Given the description of an element on the screen output the (x, y) to click on. 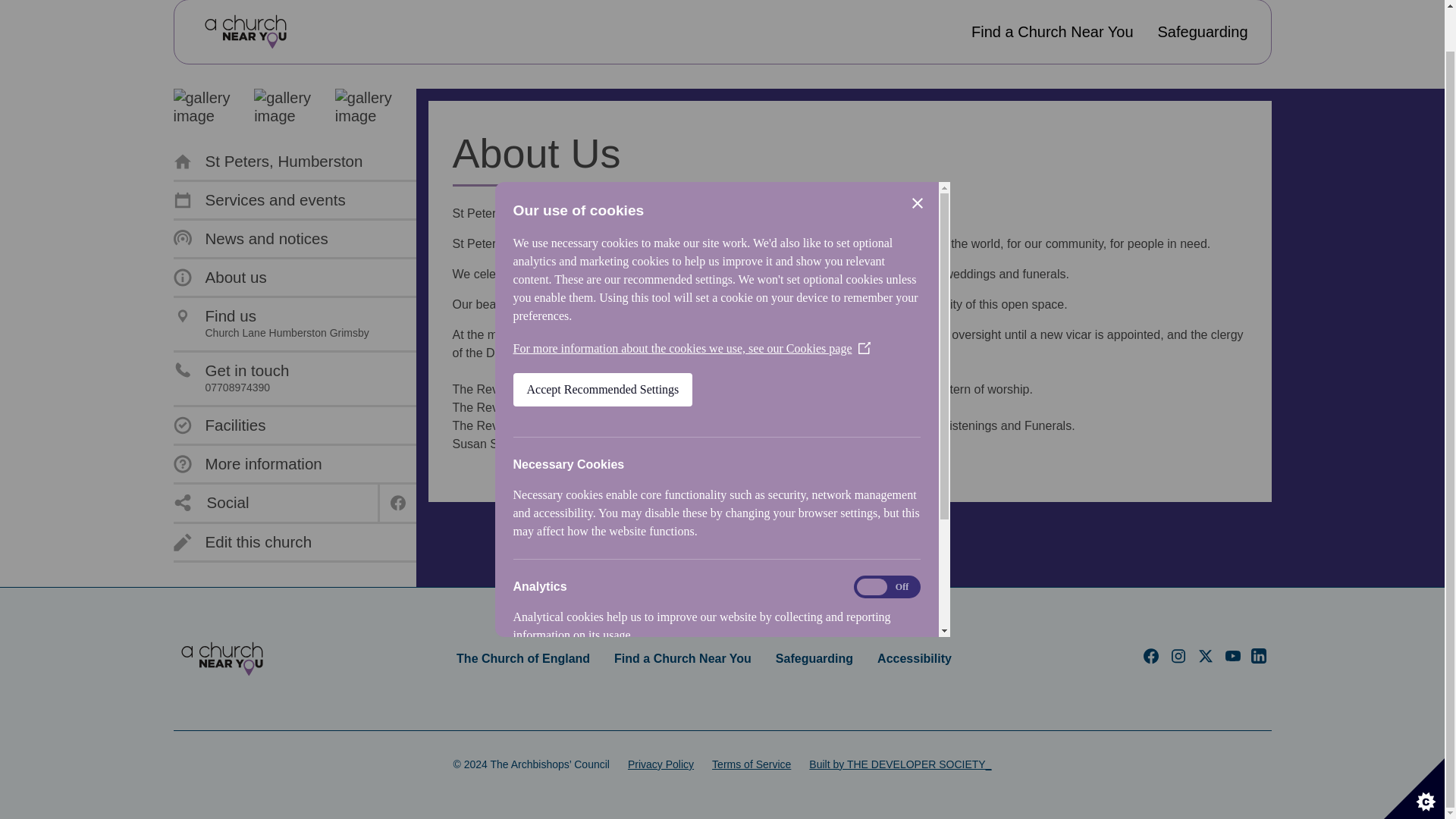
ACNY home (245, 31)
Safeguarding (1202, 31)
Services and events (259, 199)
News and notices (250, 239)
ACNY home (221, 658)
St Peters, Humberston (267, 161)
Find a Church Near You (1051, 31)
About us (270, 324)
